Given the description of an element on the screen output the (x, y) to click on. 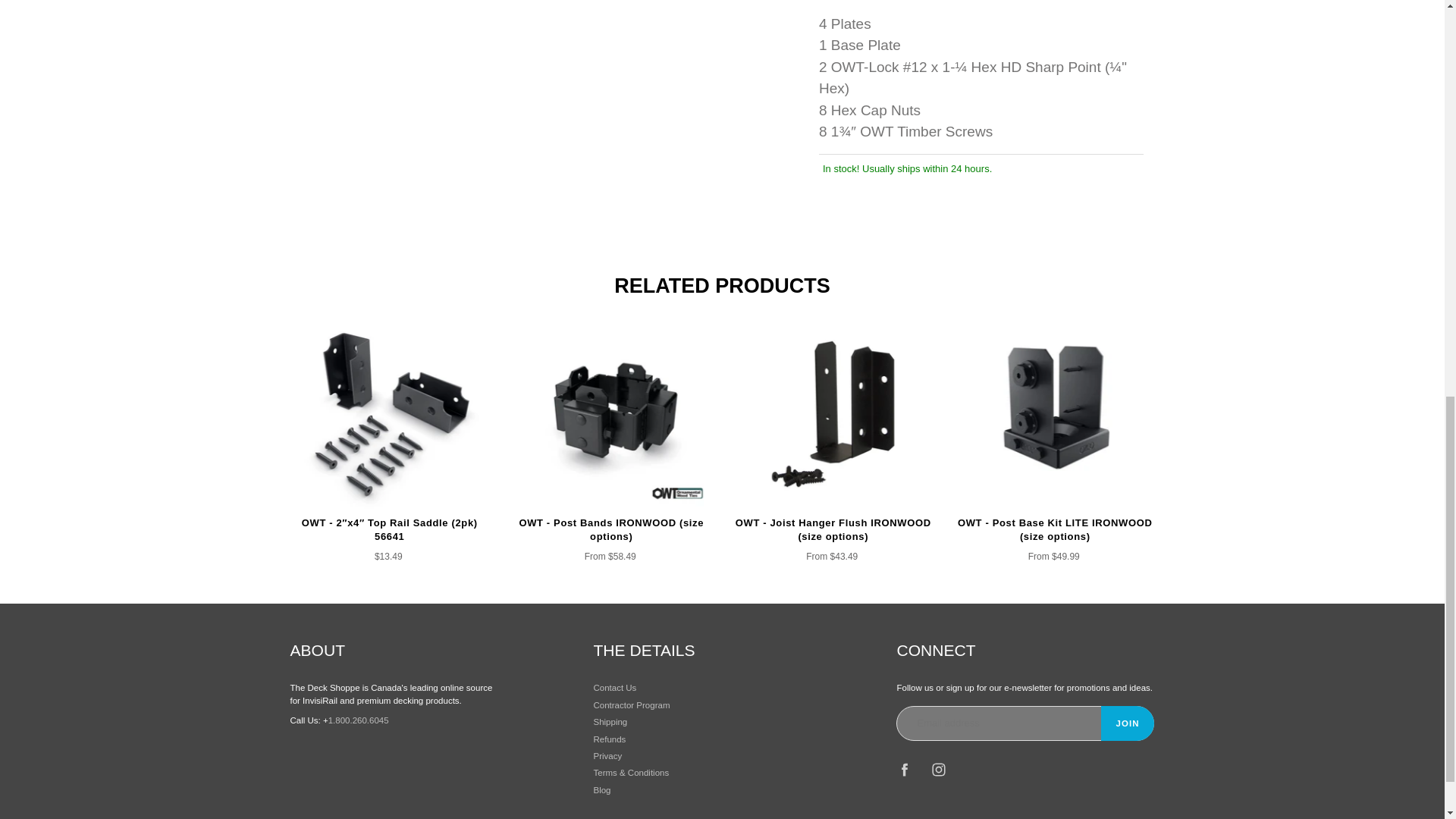
tel:18002606045 (358, 719)
Instagram (939, 768)
Facebook (904, 768)
